Given the description of an element on the screen output the (x, y) to click on. 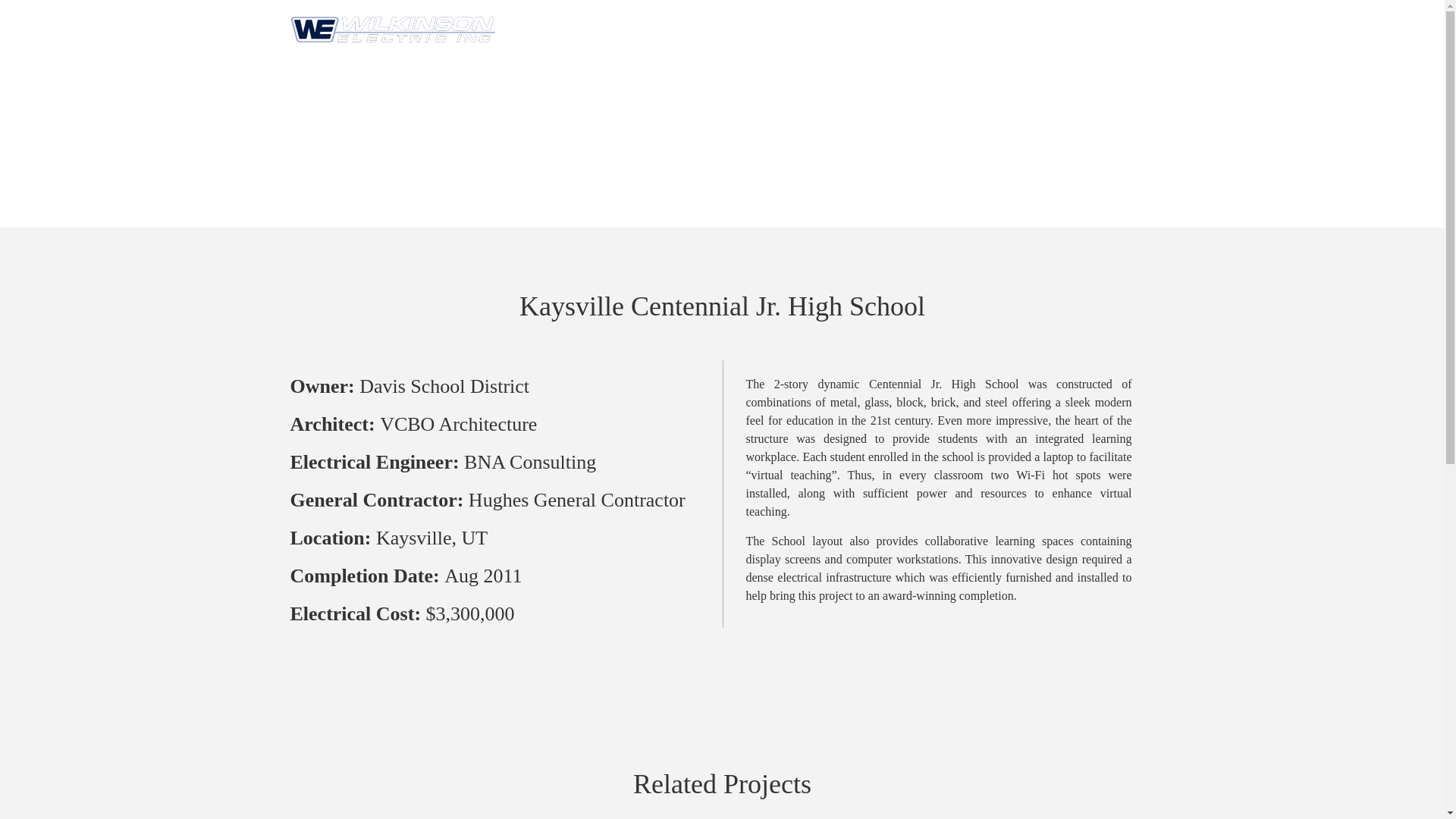
Projects (774, 30)
Home (604, 30)
Service (686, 30)
About (1026, 30)
Contact (1110, 30)
Careers (943, 30)
Safety (860, 30)
